Given the description of an element on the screen output the (x, y) to click on. 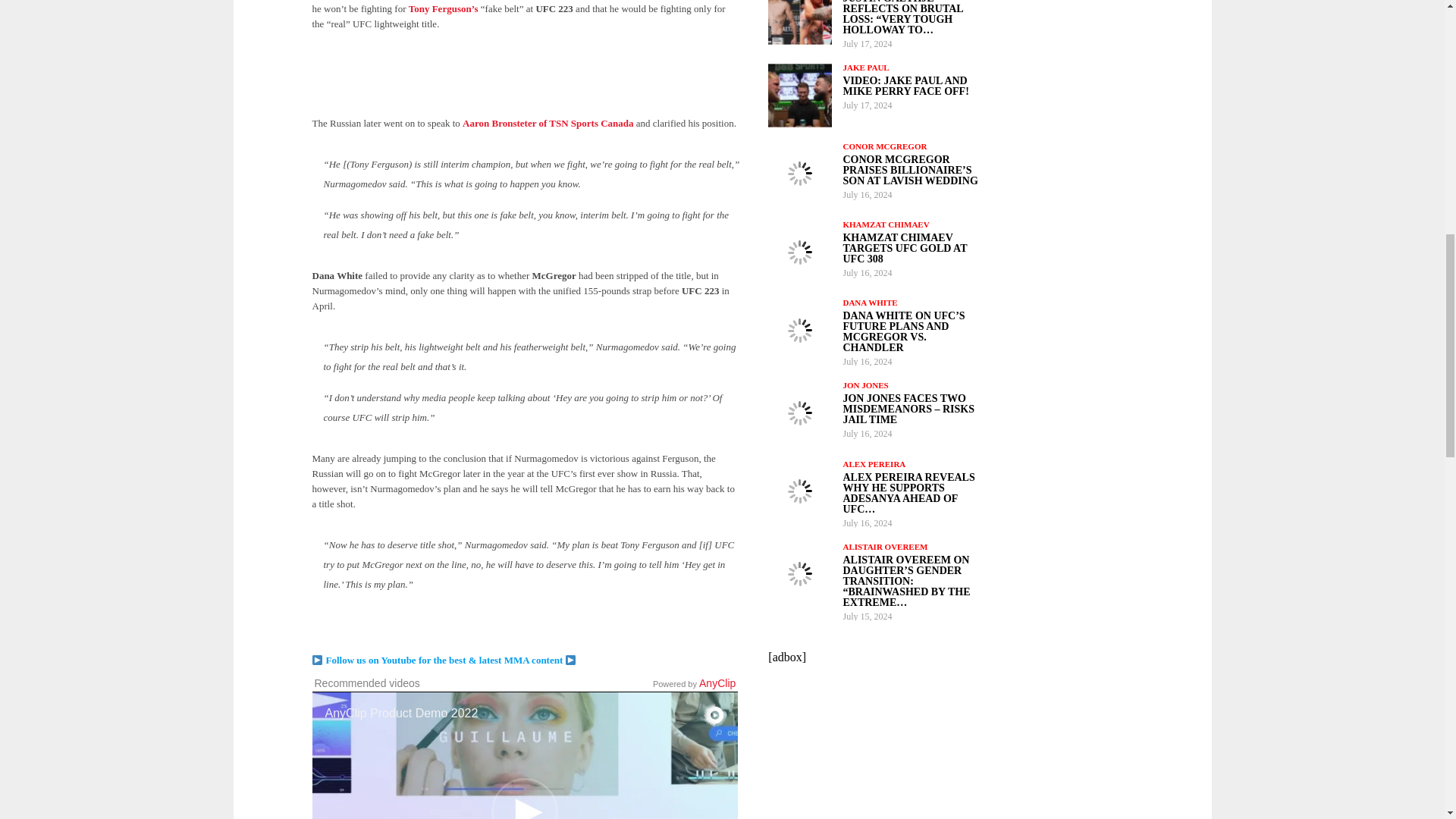
Play Video (524, 798)
